Given the description of an element on the screen output the (x, y) to click on. 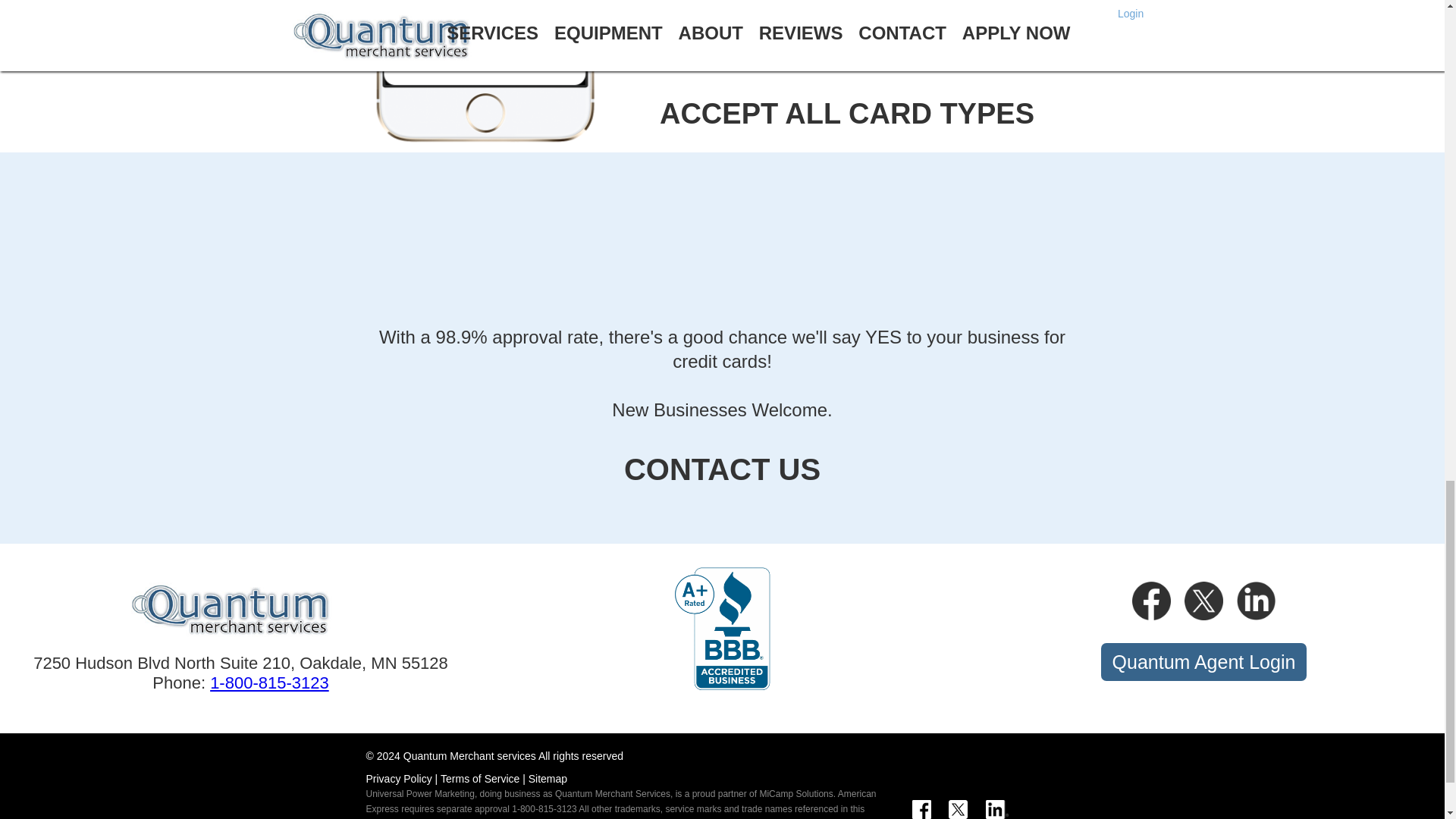
Quantum Agent Login (1203, 661)
Sitemap (547, 778)
1-800-815-3123 (269, 682)
